Given the description of an element on the screen output the (x, y) to click on. 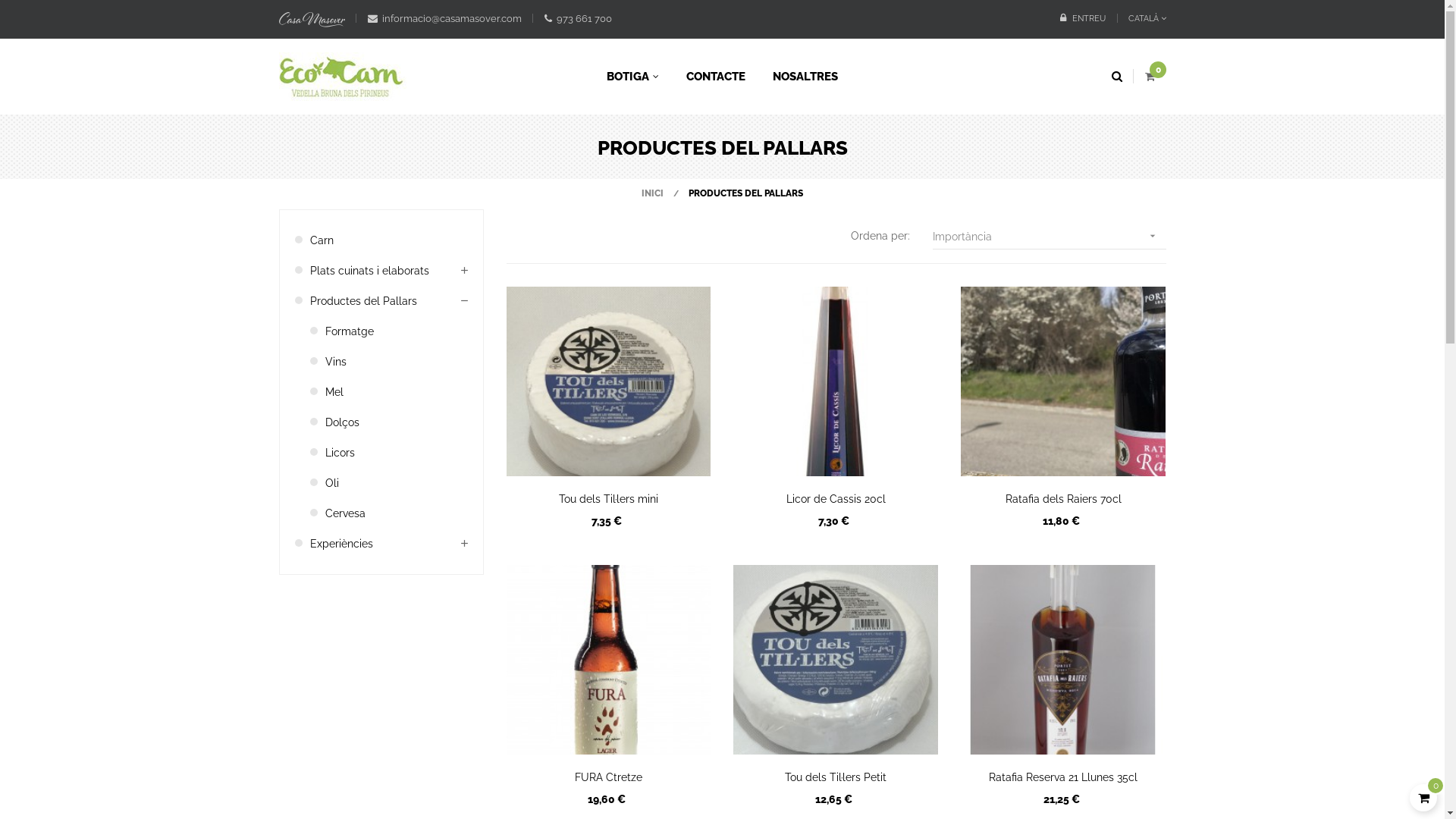
informacio@casamasover.com Element type: text (443, 18)
Ratafia dels Raiers 70cl Element type: text (1062, 498)
Mel Element type: text (395, 391)
Oli Element type: text (395, 482)
FURA Ctretze Element type: text (608, 776)
ENTREU Element type: text (1082, 18)
Cervesa Element type: text (395, 513)
Licor de Cassis 20cl Element type: text (835, 498)
NOSALTRES Element type: text (805, 76)
CONTACTE Element type: text (715, 76)
Formatge Element type: text (395, 331)
Vins Element type: text (395, 361)
BOTIGA Element type: text (632, 76)
Plats cuinats i elaborats Element type: text (388, 270)
Carn Element type: text (388, 240)
Ratafia Reserva 21 Llunes 35cl Element type: text (1062, 776)
PRODUCTES DEL PALLARS Element type: text (745, 192)
INICI Element type: text (656, 192)
Productes del Pallars Element type: text (388, 300)
973 661 700 Element type: text (577, 18)
Licors Element type: text (395, 452)
